Given the description of an element on the screen output the (x, y) to click on. 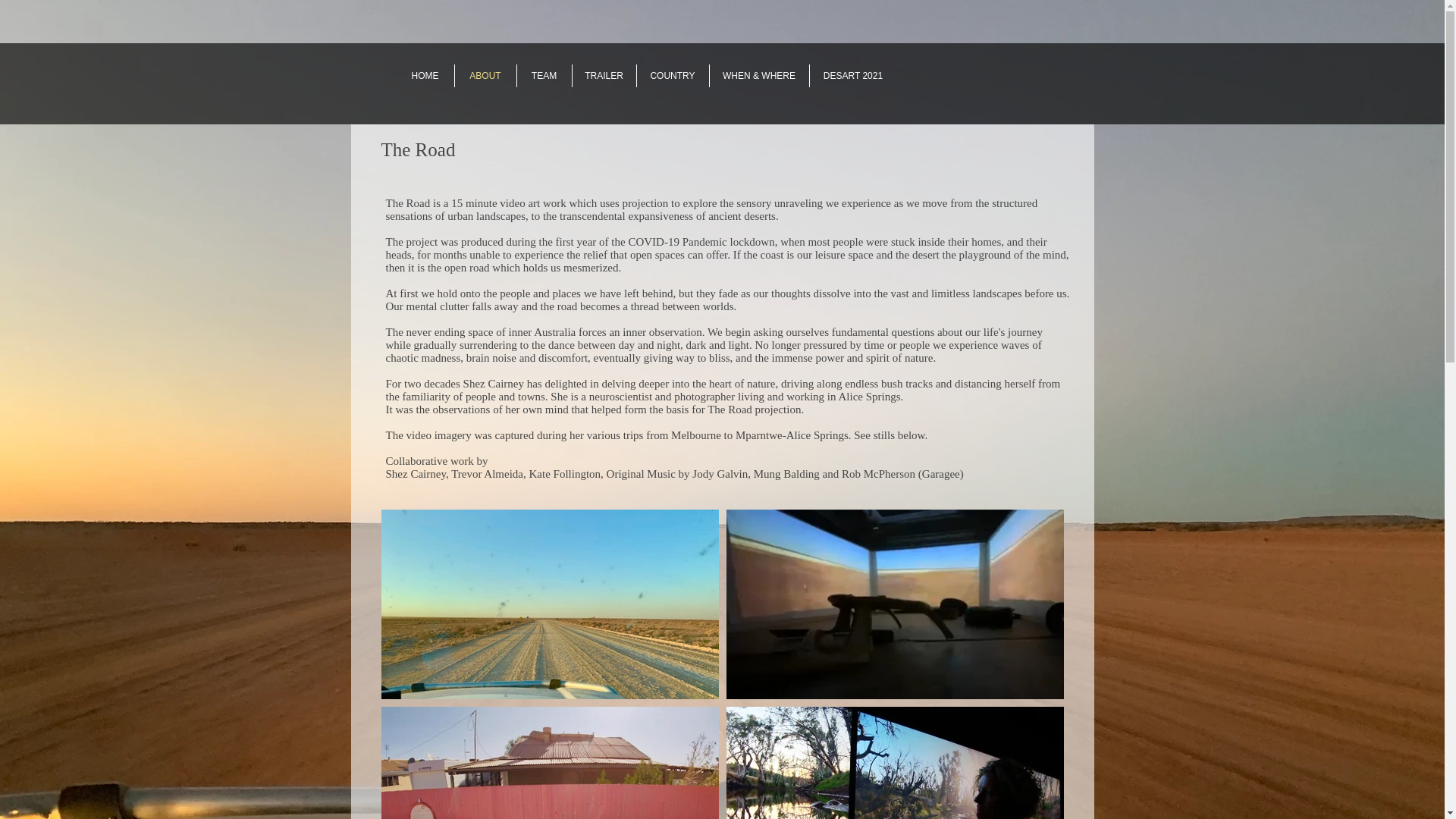
ABOUT (485, 75)
DESART 2021 (852, 75)
COUNTRY (673, 75)
TRAILER (603, 75)
TEAM (544, 75)
HOME (424, 75)
